Given the description of an element on the screen output the (x, y) to click on. 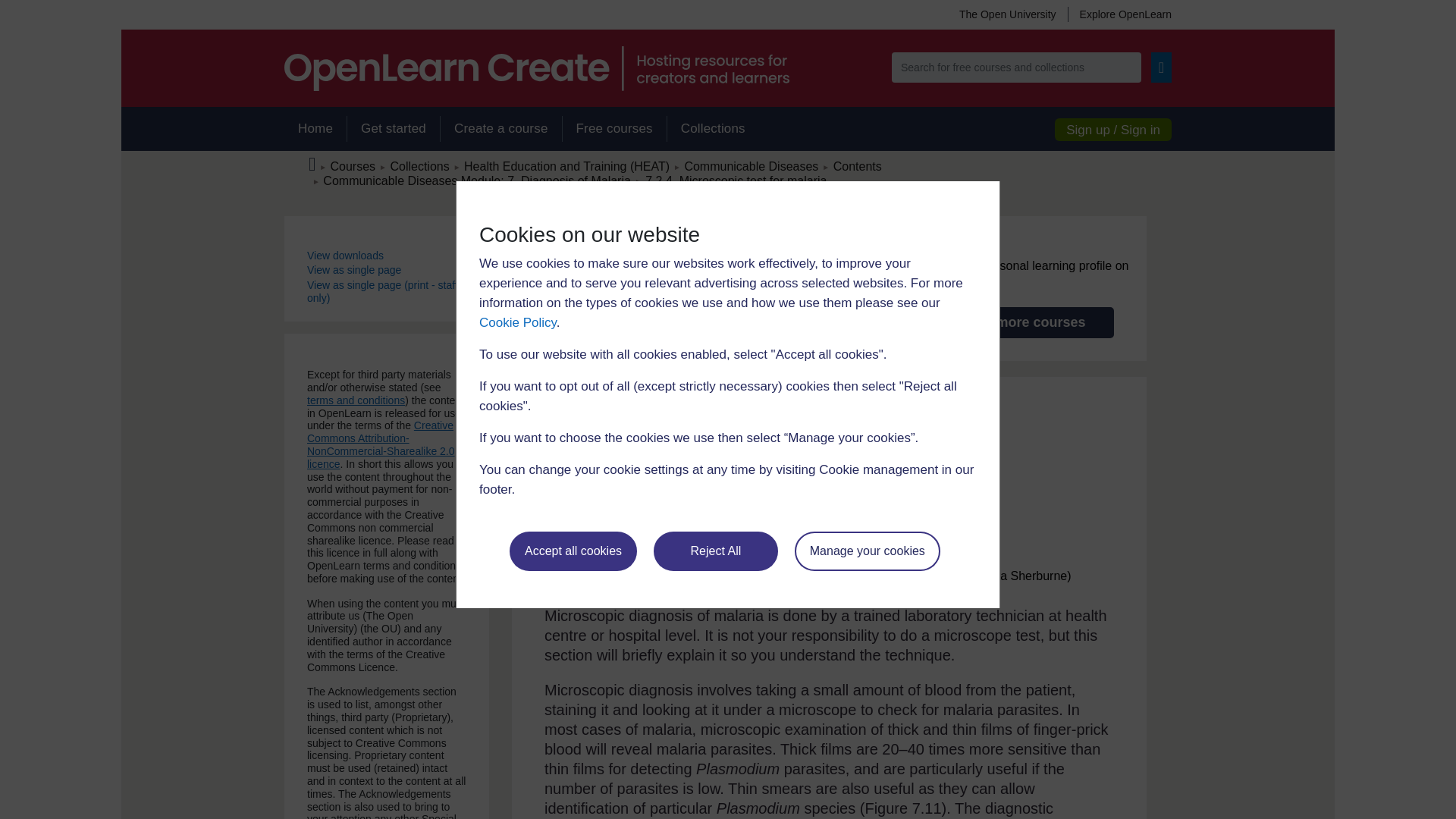
Cookie Policy (517, 322)
Search (1161, 67)
Accept all cookies (573, 550)
Get started (392, 128)
Home (314, 128)
Explore OpenLearn (1119, 14)
The Open University (1007, 14)
SC Web Editor (476, 180)
Create a course (500, 128)
Explore OpenLearn (1119, 14)
The Open University (1007, 14)
Free courses (614, 128)
Search (1161, 67)
OpenLearn Create (536, 67)
Manage your cookies (867, 550)
